Given the description of an element on the screen output the (x, y) to click on. 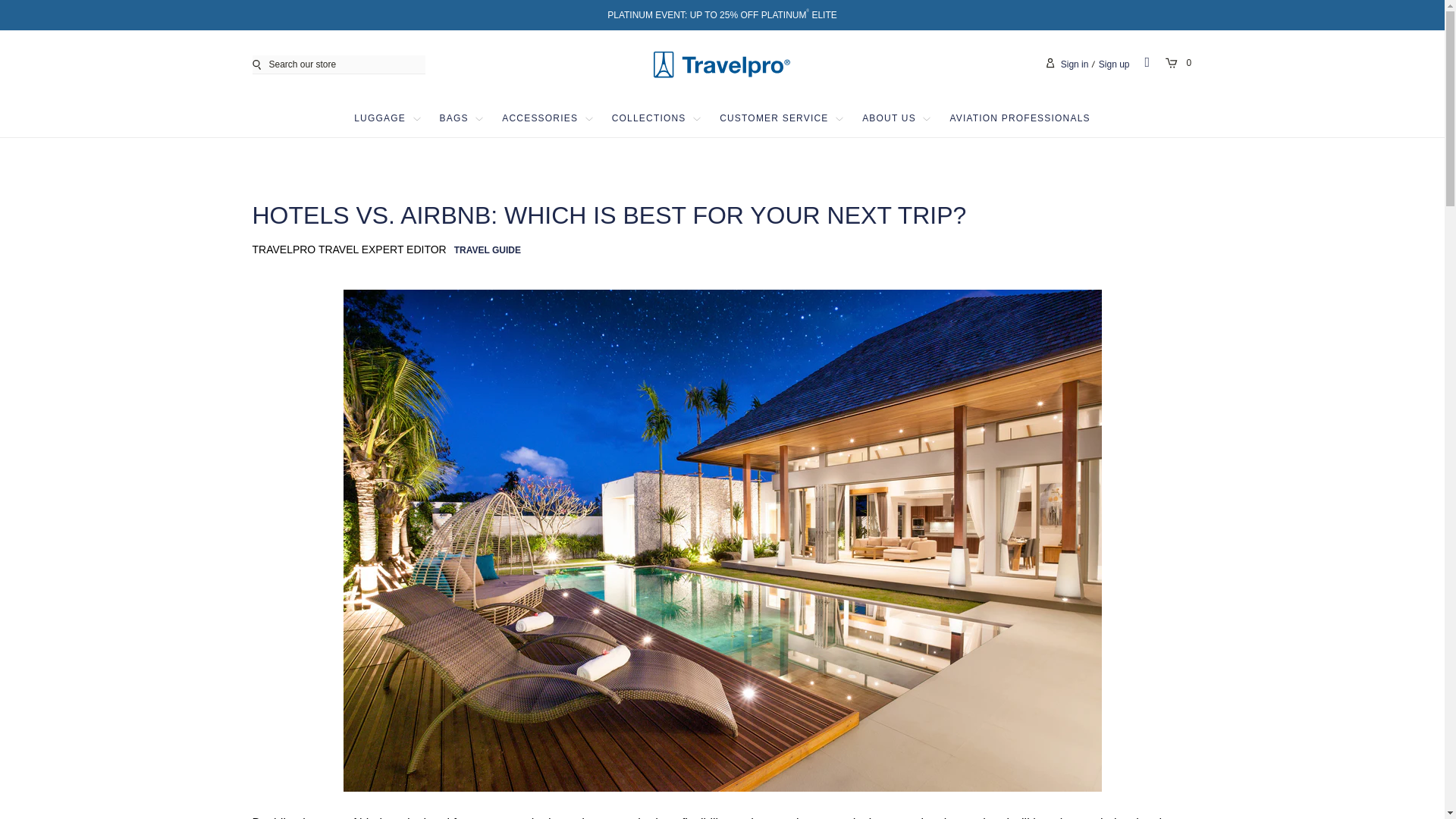
SEARCH (259, 64)
BAGS (453, 118)
LUGGAGE (379, 118)
Sign in (1075, 63)
Sign up (1114, 63)
Travelpro (722, 64)
